Given the description of an element on the screen output the (x, y) to click on. 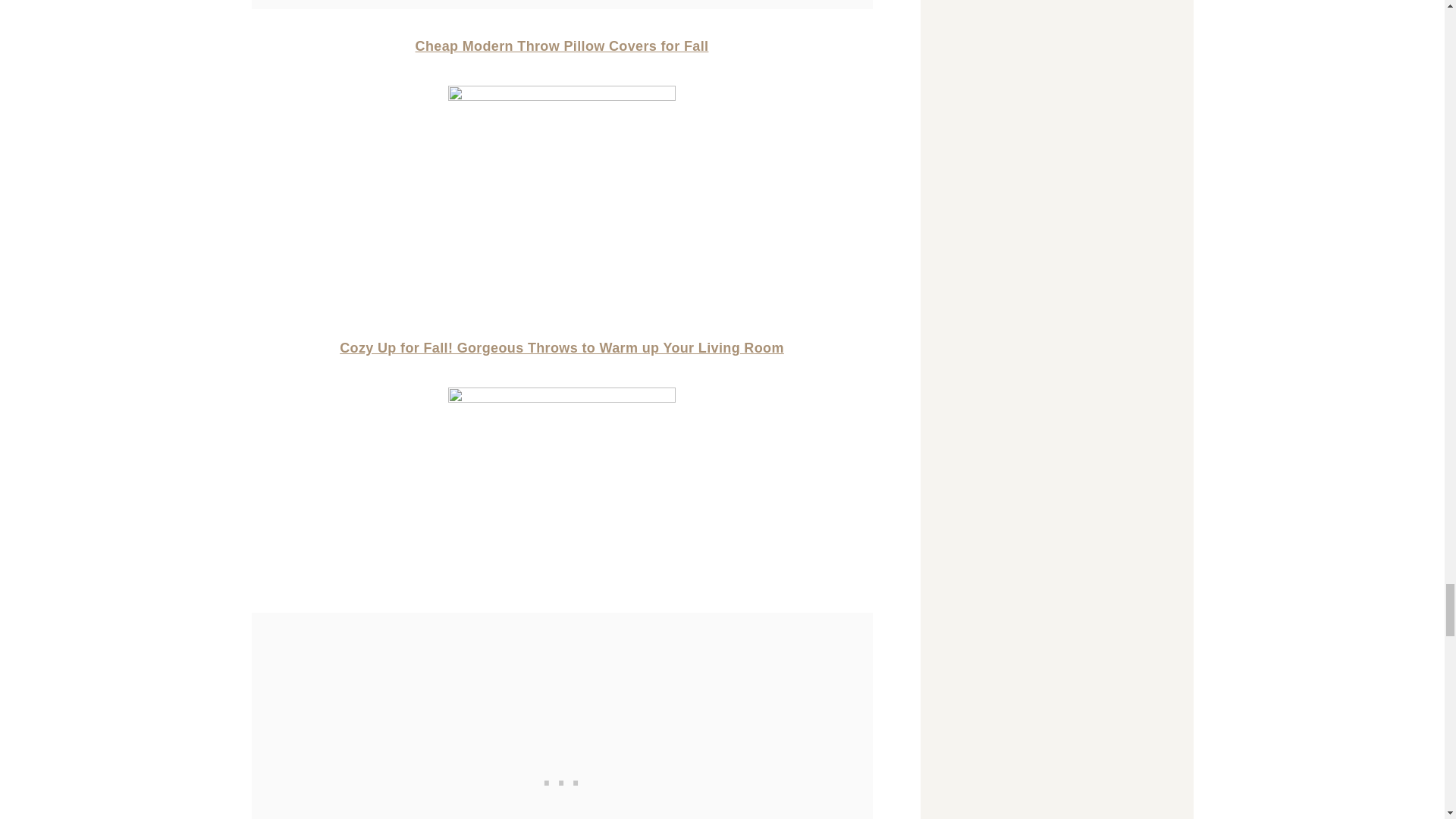
Cheap Modern Throw Pillow Covers for Fall (561, 46)
